Given the description of an element on the screen output the (x, y) to click on. 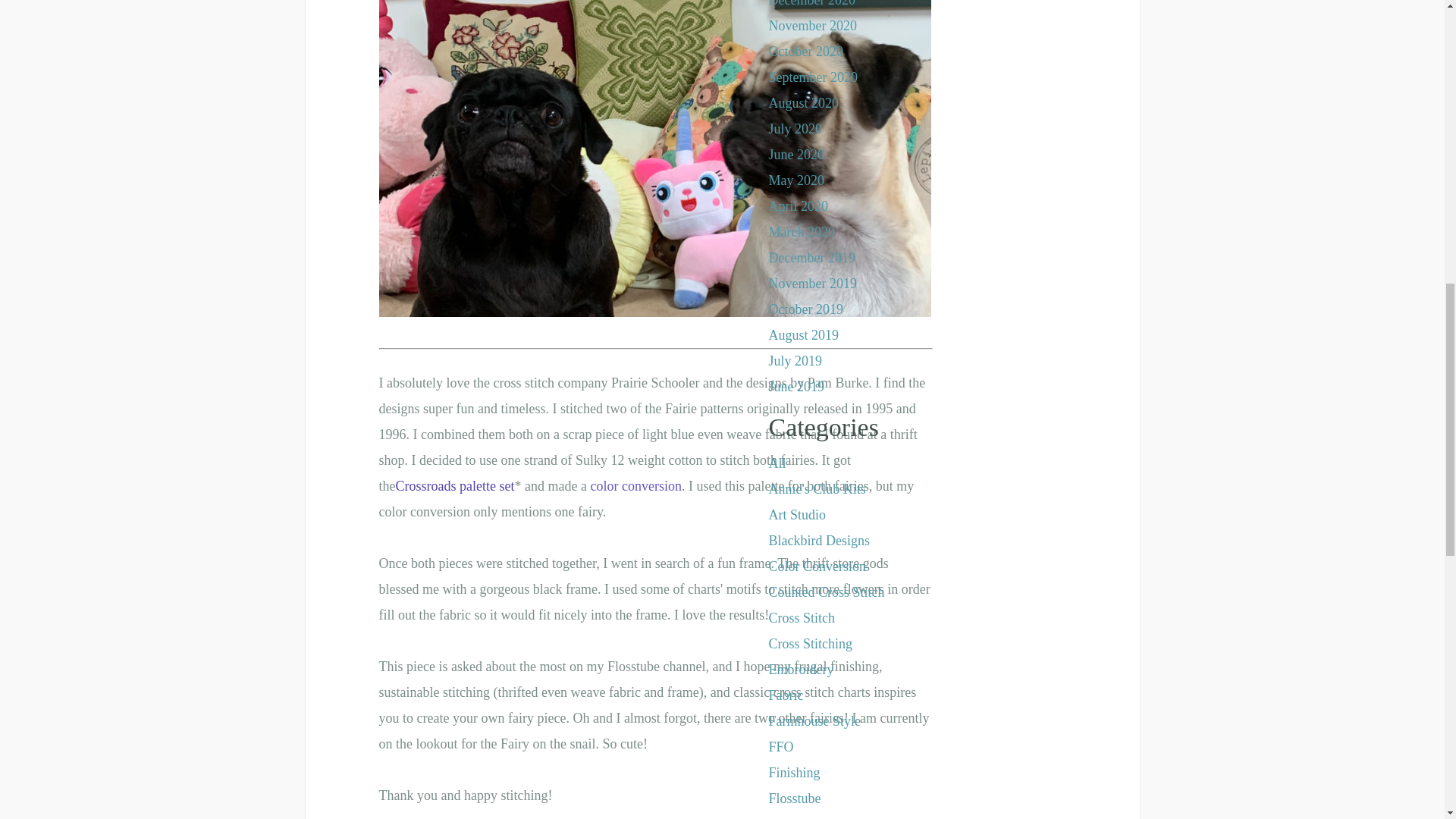
Crossroads palette set (455, 485)
color conversion (635, 485)
